Given the description of an element on the screen output the (x, y) to click on. 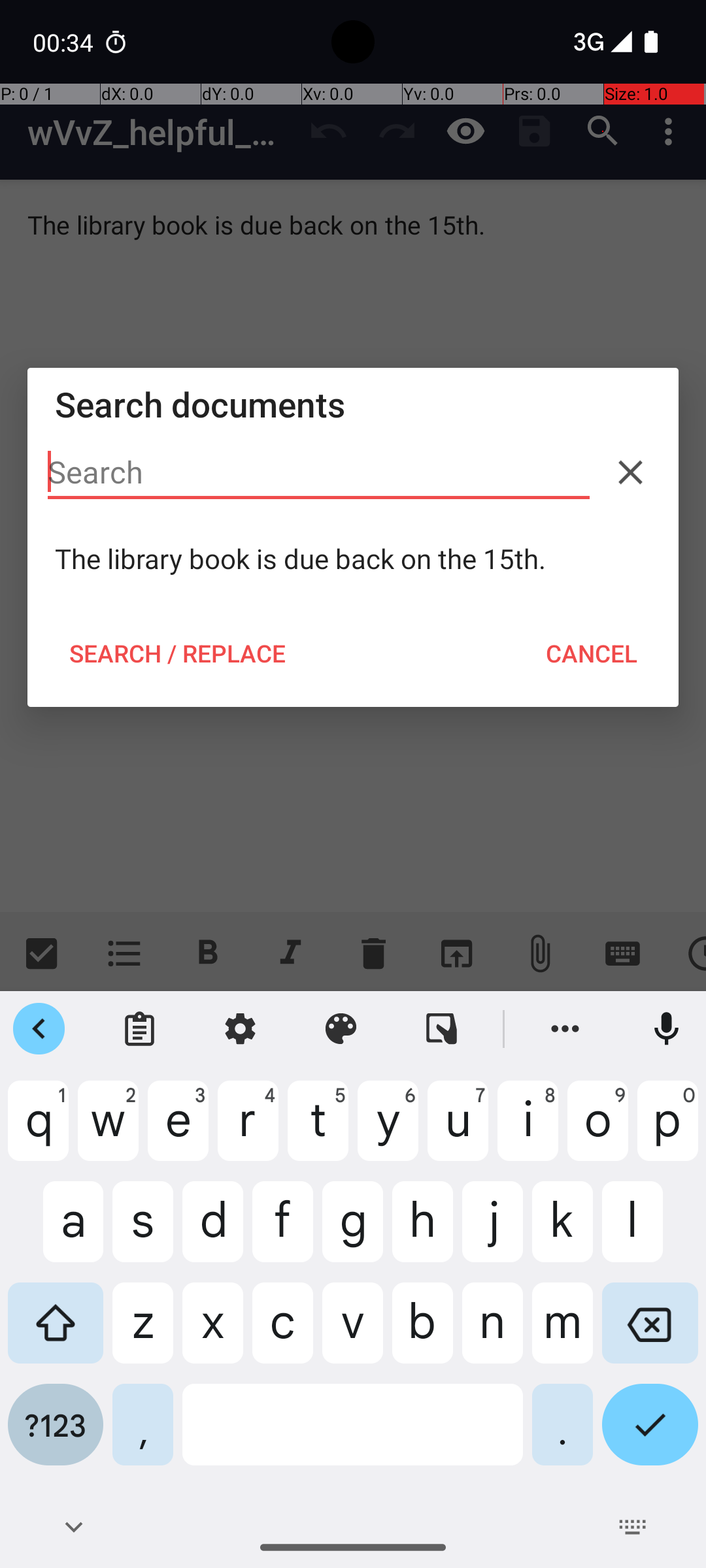
The library book is due back on the 15th. Element type: android.widget.TextView (352, 558)
00:34 Element type: android.widget.TextView (64, 41)
